Given the description of an element on the screen output the (x, y) to click on. 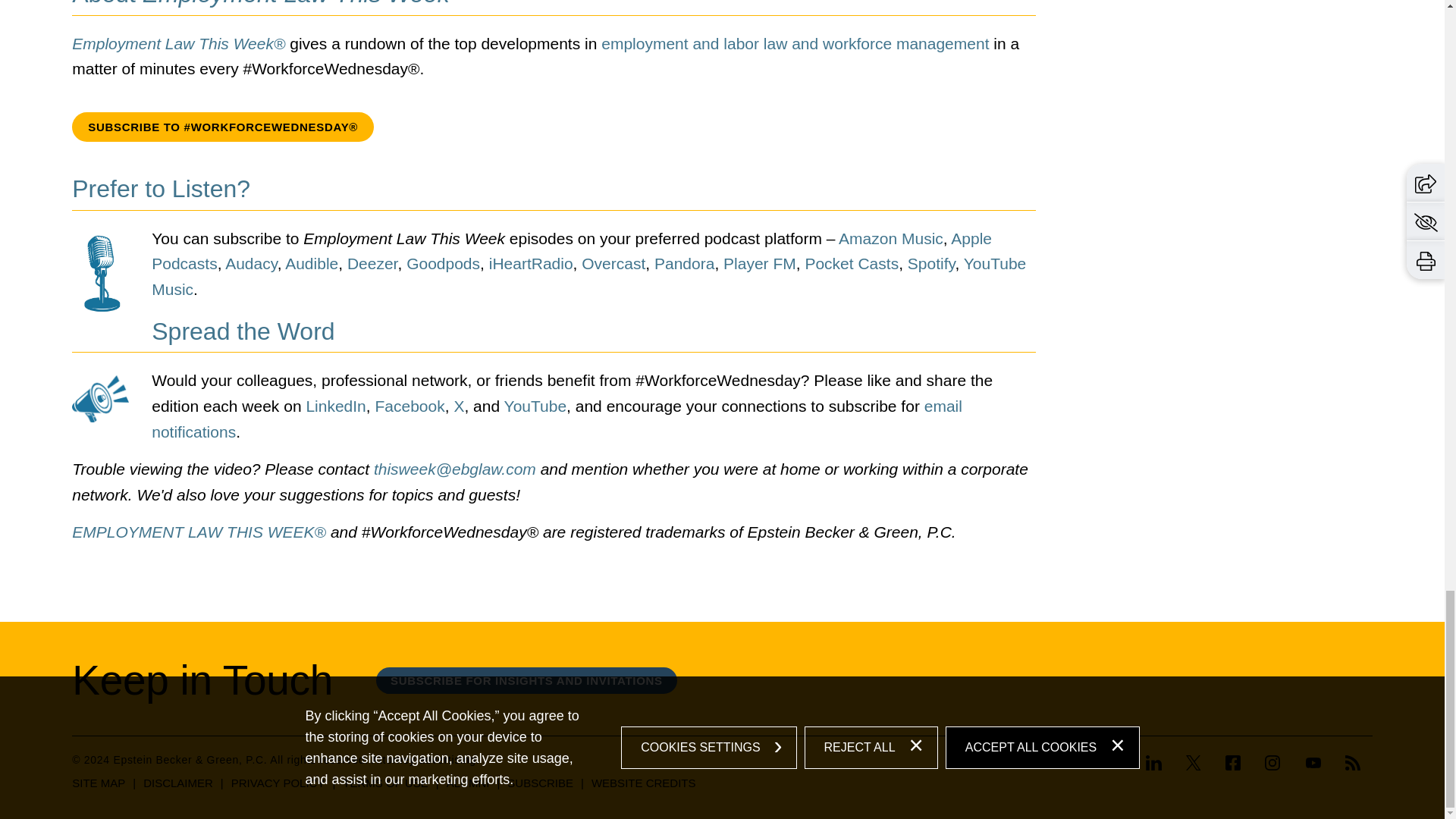
Instagram (1273, 762)
Linkedin (1159, 764)
Youtube (1313, 762)
Youtube (1313, 764)
Linkedin (1153, 762)
Instagram (1273, 764)
Twitter (1193, 762)
Facebook (1232, 764)
Twitter (1192, 764)
Facebook (1232, 762)
RSS (1352, 762)
